Given the description of an element on the screen output the (x, y) to click on. 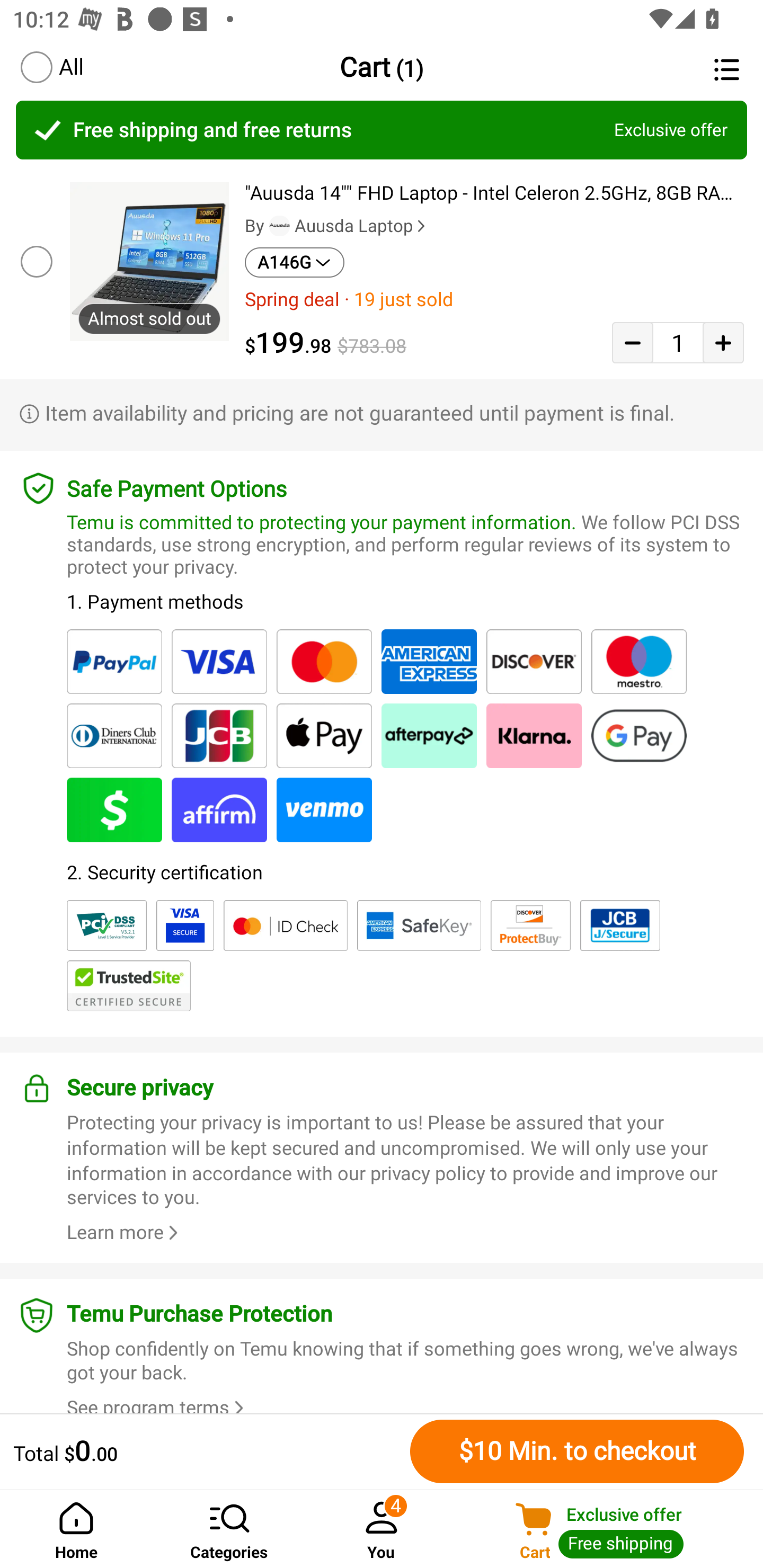
Select all tick button All (51, 67)
Free shipping and free returns Exclusive offer (381, 129)
Product checkbox uncheck (35, 260)
By Auusda Laptop (336, 226)
A146G (294, 262)
Decrease quantity button (632, 342)
1 (677, 342)
Add quantity button (722, 342)
Learn more (125, 1232)
Total $0.00 (206, 1450)
Checkout $10 Min. to checkout (576, 1451)
Home (76, 1528)
Categories (228, 1528)
You 4 You (381, 1528)
Cart Cart Exclusive offer (610, 1528)
